Given the description of an element on the screen output the (x, y) to click on. 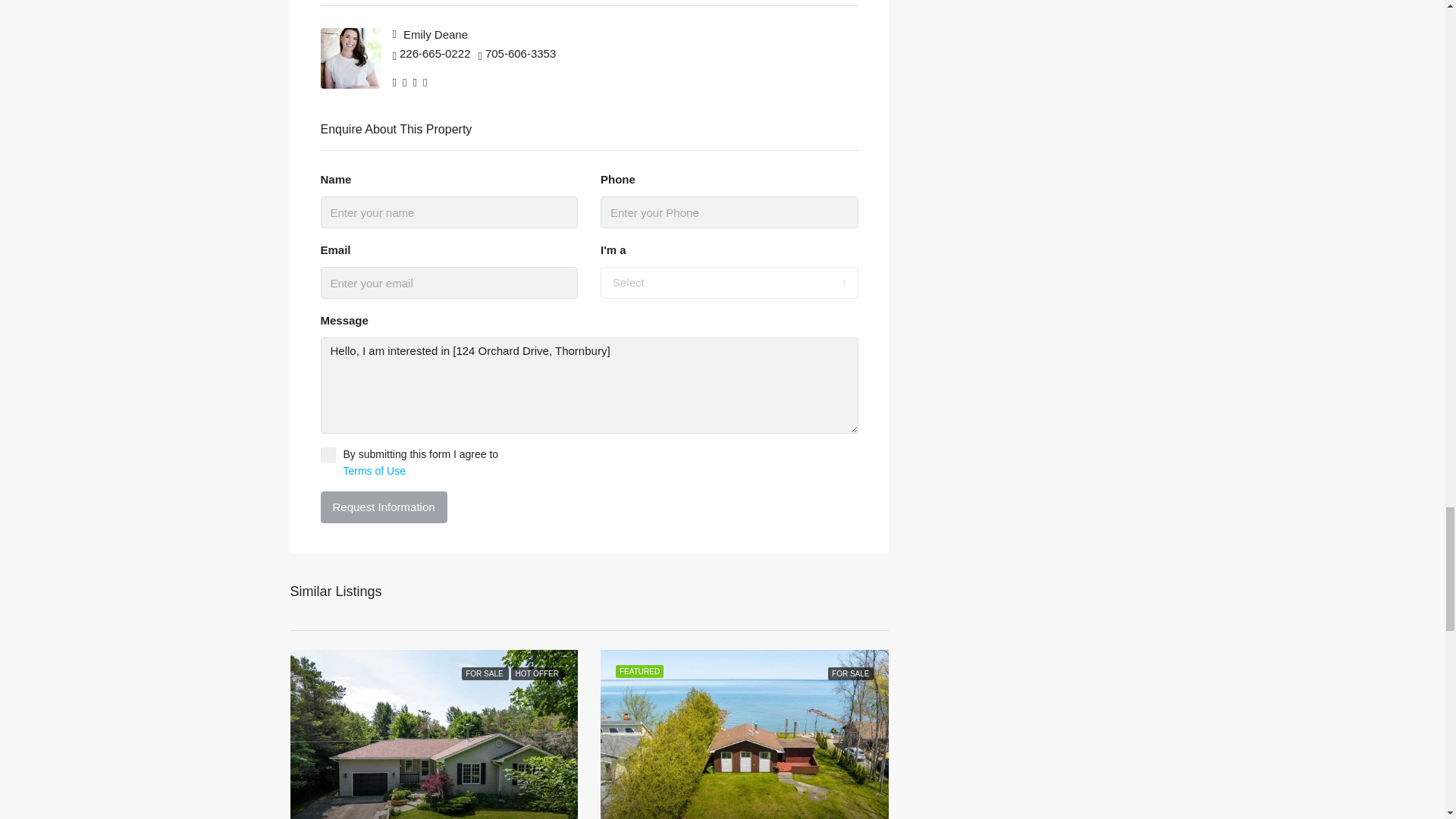
Select (729, 282)
